Given the description of an element on the screen output the (x, y) to click on. 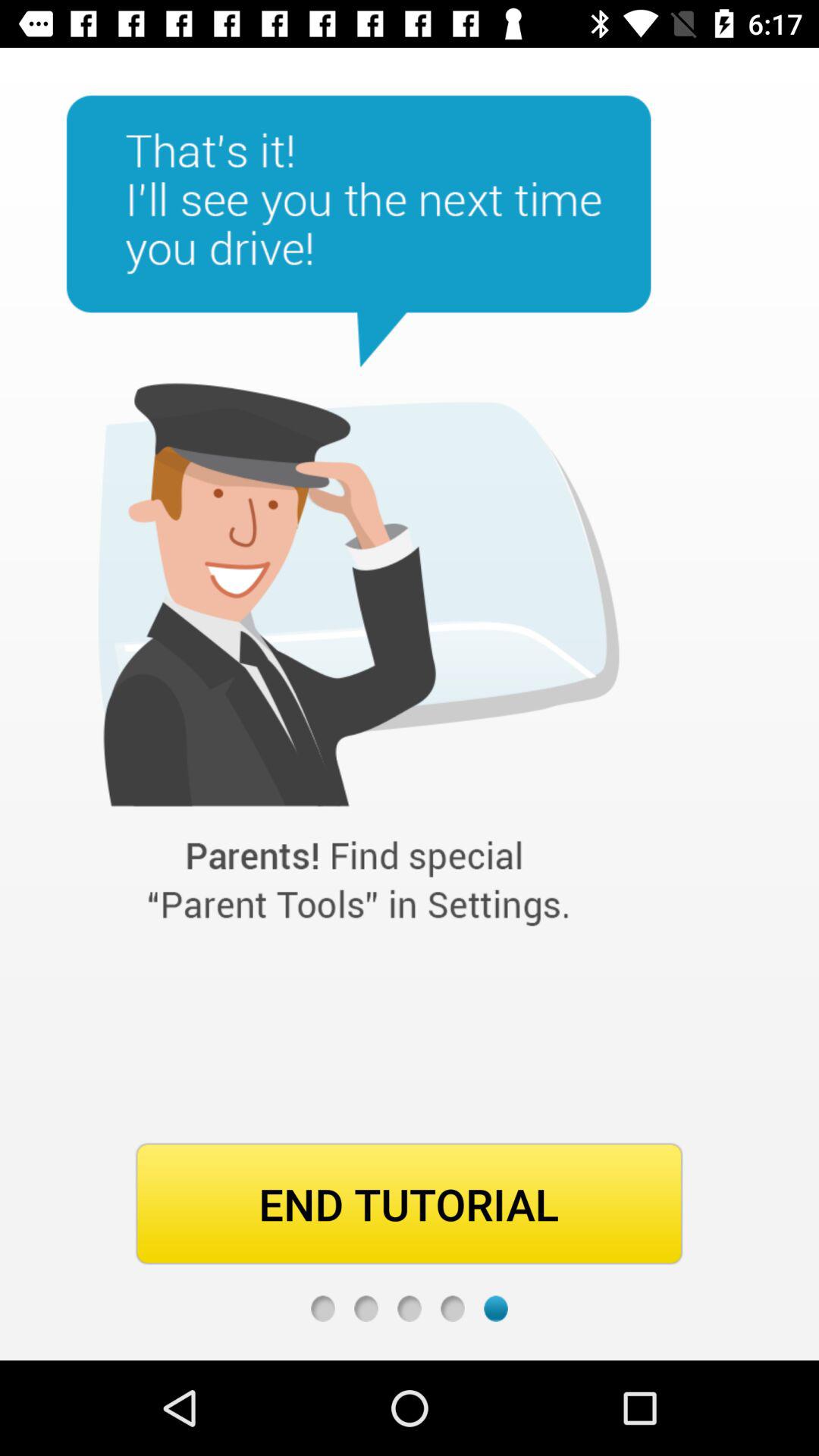
2nd page (366, 1308)
